Given the description of an element on the screen output the (x, y) to click on. 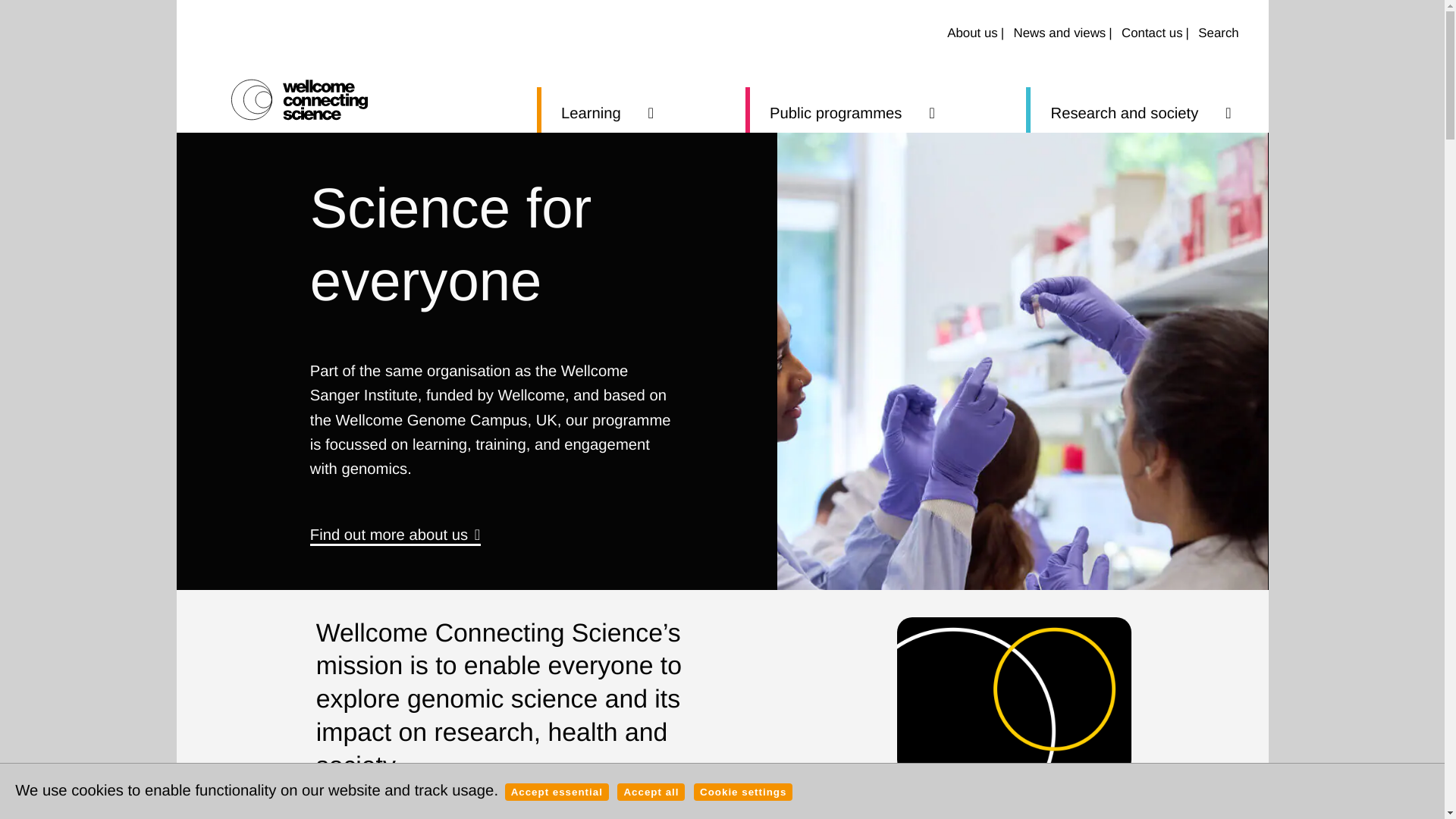
Search (1219, 32)
Wellcome Connecting Science (298, 99)
News and views (1062, 32)
Public programmes (852, 109)
Cookie settings (743, 791)
Contact us (1155, 32)
public (852, 109)
learning (607, 109)
Learning (607, 109)
Accept all (650, 791)
About us (937, 809)
About us (975, 32)
Accept essential (556, 791)
Research and society (1140, 109)
